Given the description of an element on the screen output the (x, y) to click on. 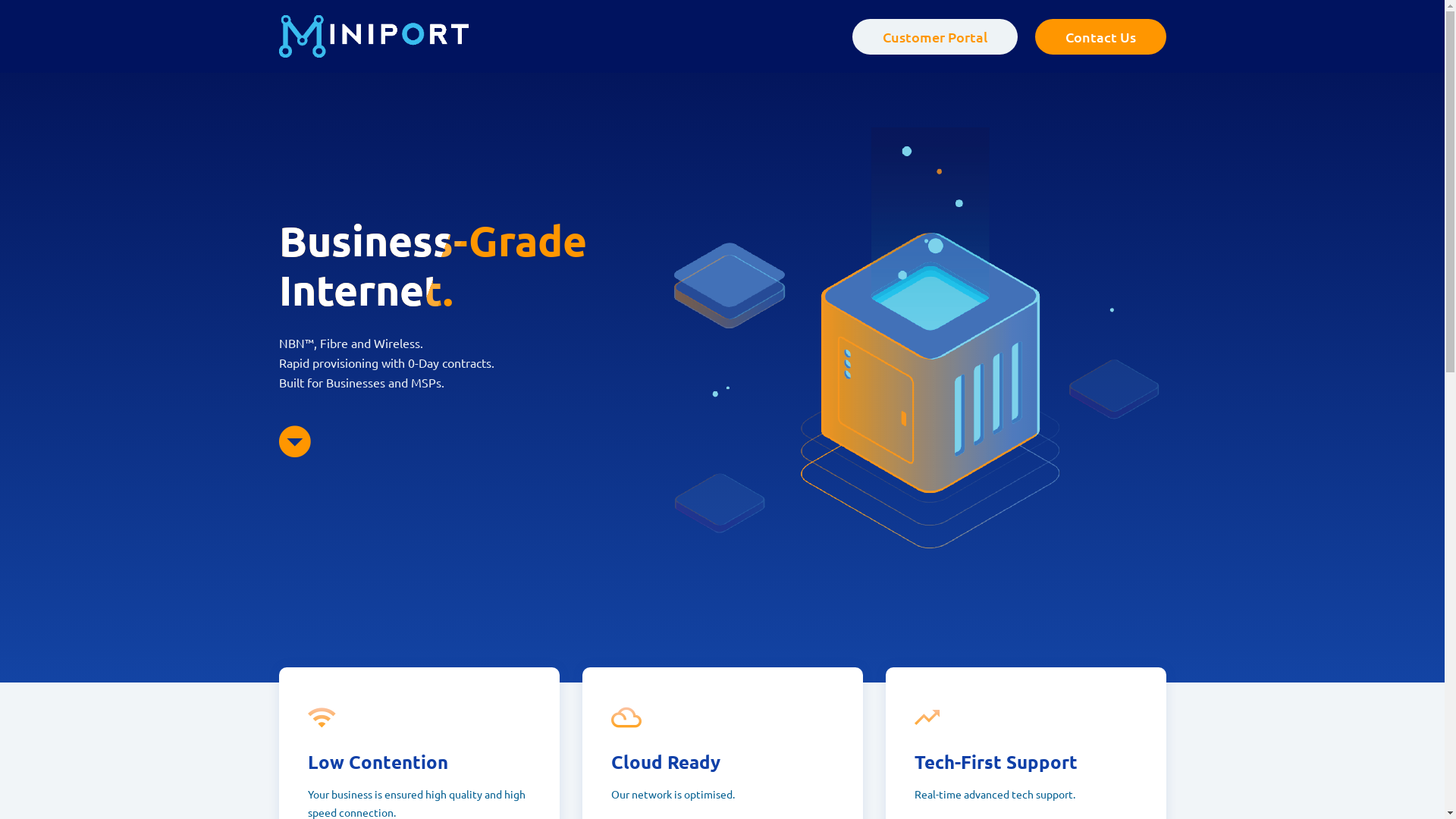
Customer Portal Element type: text (934, 35)
Contact Us Element type: text (1099, 35)
